Given the description of an element on the screen output the (x, y) to click on. 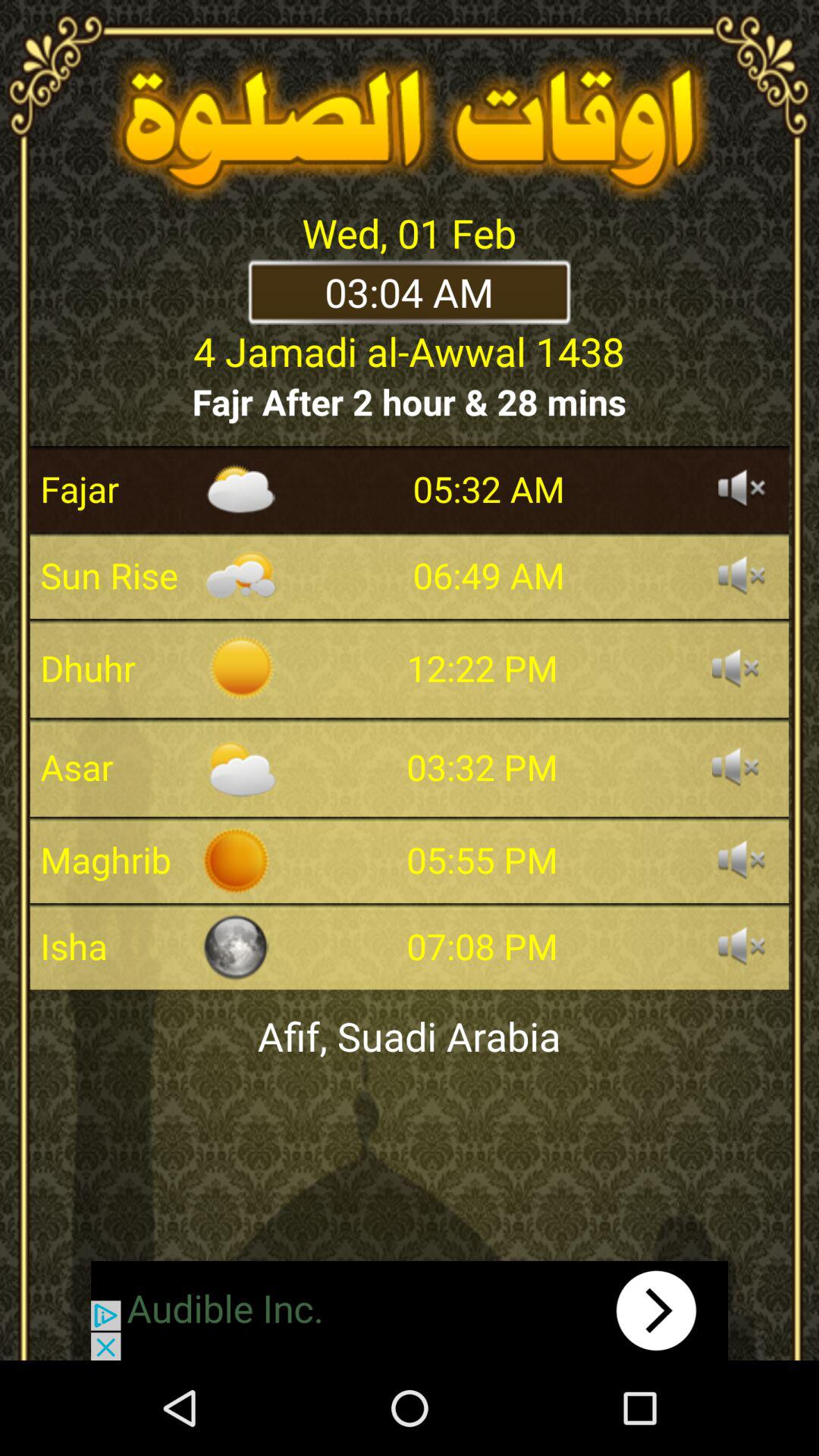
turn on audio (741, 575)
